Given the description of an element on the screen output the (x, y) to click on. 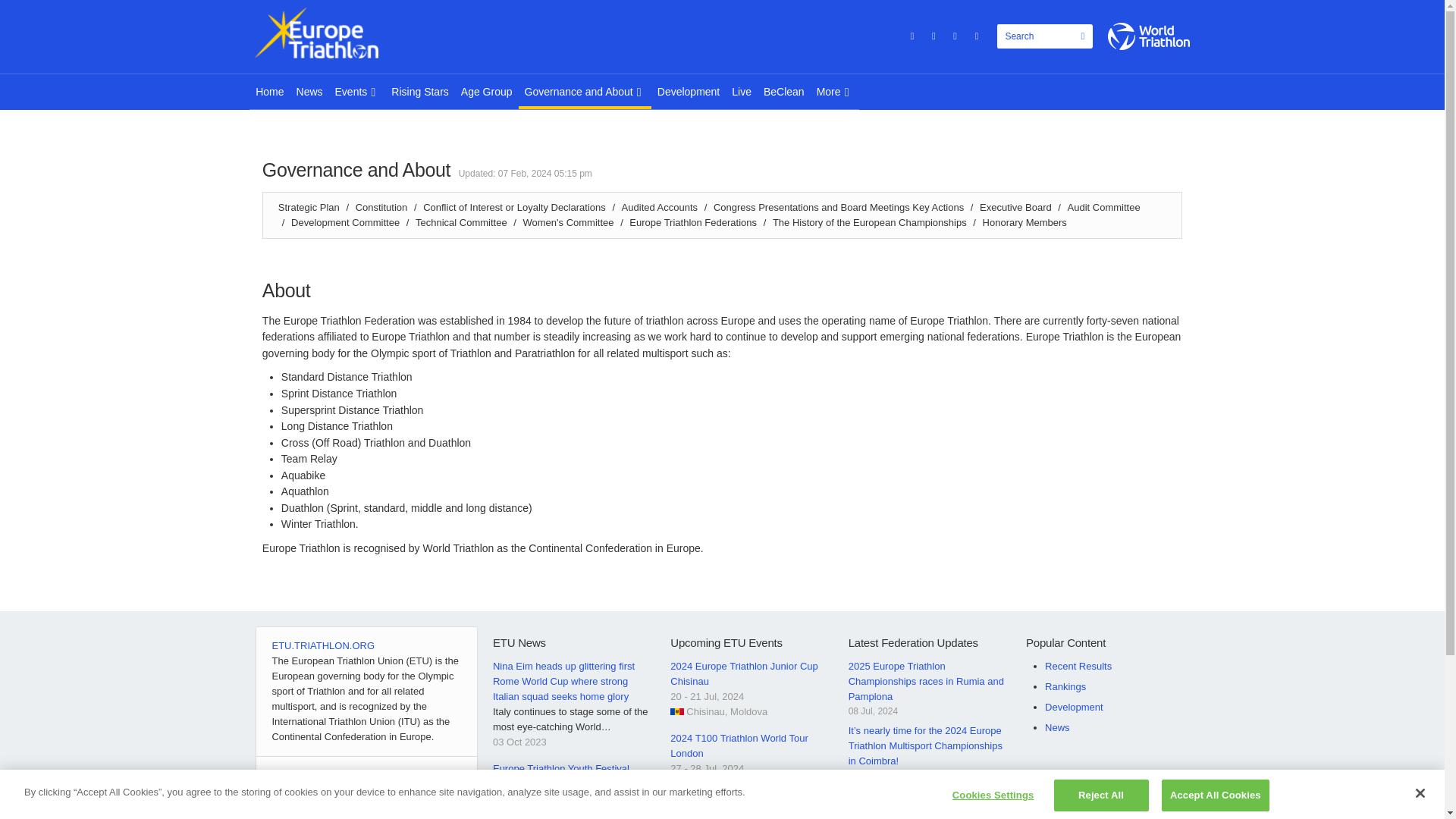
Home (268, 91)
Age Group (486, 91)
Rising Stars (419, 91)
Europe Triathlon (330, 32)
More (834, 91)
Strategic Plan (308, 206)
Development (688, 91)
Events (357, 91)
Governance and About (584, 91)
Moldova flag (675, 711)
BeClean (783, 91)
News (309, 91)
Great Britain flag (675, 783)
Live (741, 91)
